Given the description of an element on the screen output the (x, y) to click on. 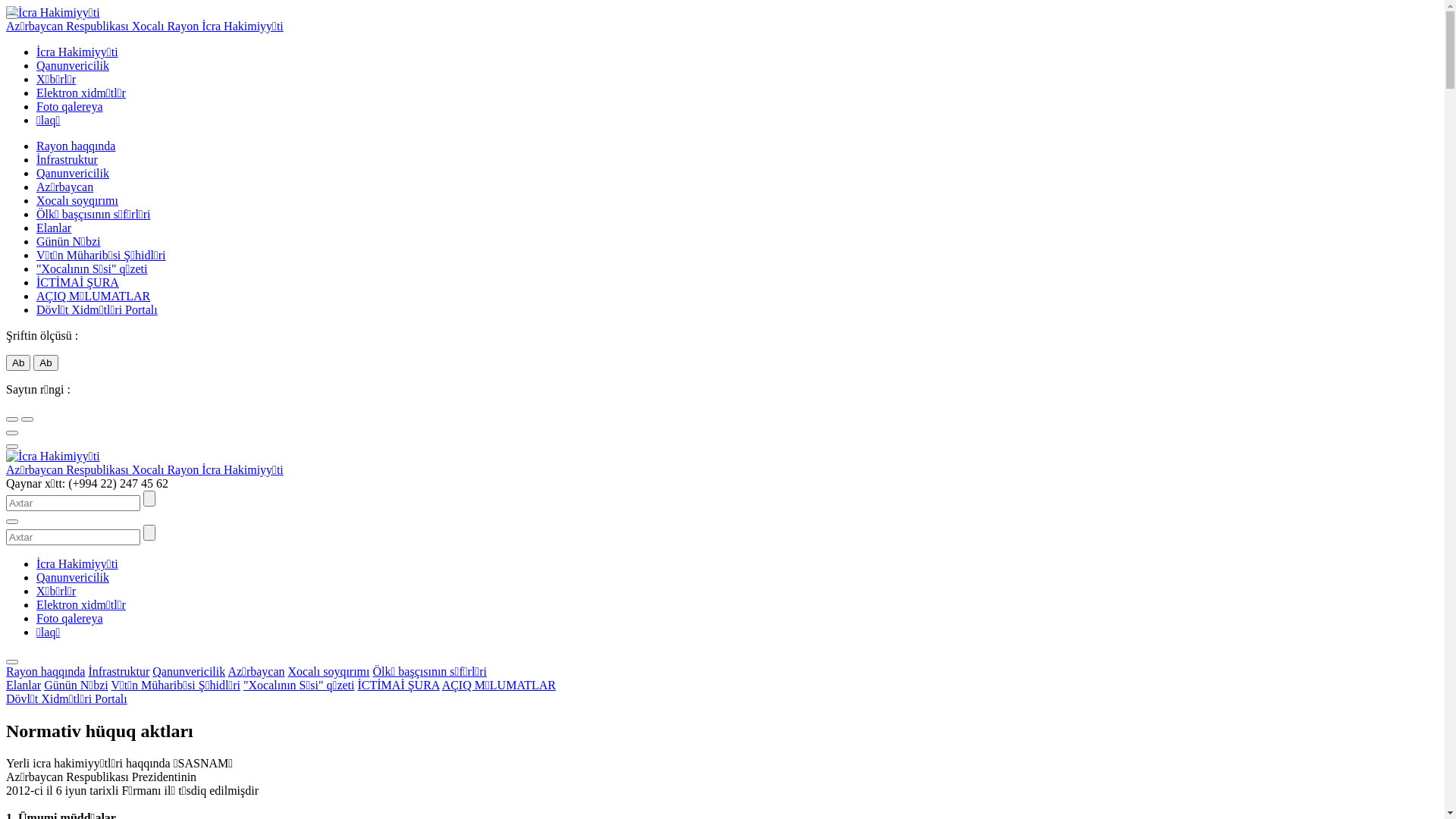
Ab Element type: text (18, 362)
Qanunvericilik Element type: text (188, 671)
Foto qalereya Element type: text (69, 617)
Qanunvericilik Element type: text (72, 65)
Ab Element type: text (45, 362)
Qanunvericilik Element type: text (72, 172)
Foto qalereya Element type: text (69, 106)
Elanlar Element type: text (23, 684)
Qanunvericilik Element type: text (72, 577)
Elanlar Element type: text (53, 227)
